Given the description of an element on the screen output the (x, y) to click on. 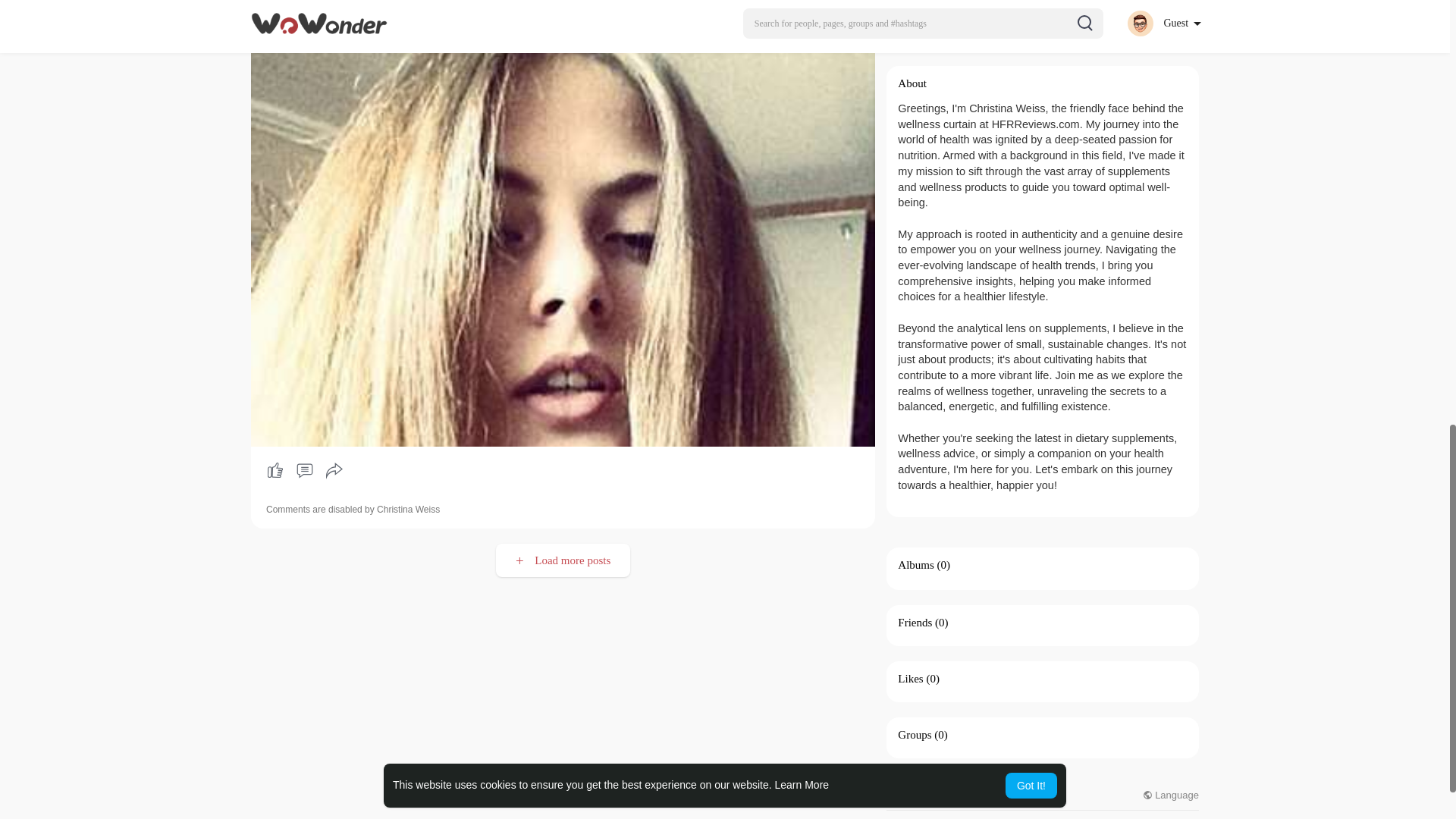
Language (1170, 795)
Comments (304, 470)
Friends (914, 622)
Likes (910, 678)
Albums (916, 564)
Share (334, 470)
Groups (914, 734)
